Given the description of an element on the screen output the (x, y) to click on. 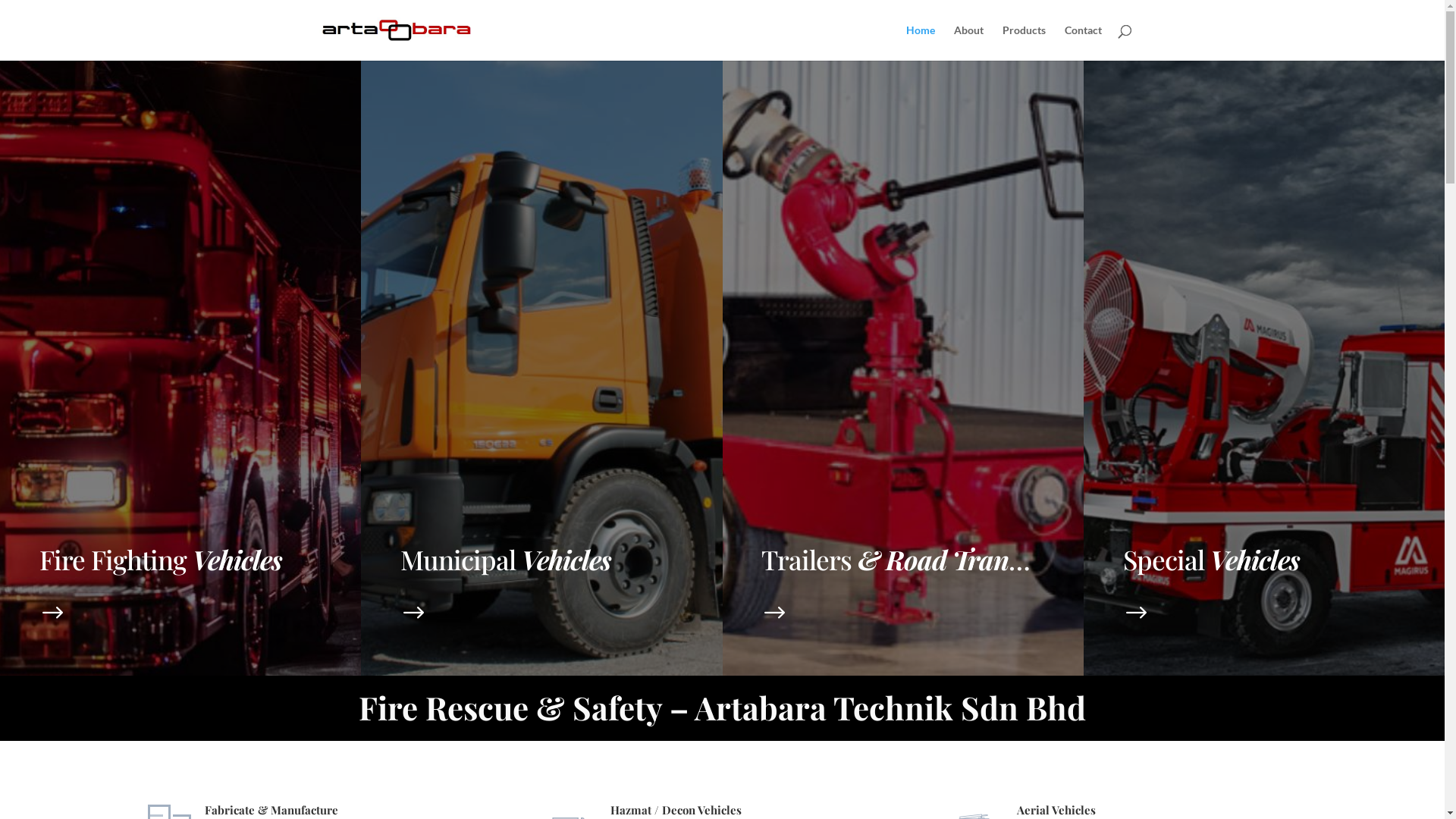
Products Element type: text (1023, 42)
$ Element type: text (414, 613)
Contact Element type: text (1082, 42)
Municipal Vehicles Element type: text (505, 559)
$ Element type: text (1137, 613)
$ Element type: text (775, 613)
Home Element type: text (919, 42)
Fire Fighting Vehicles Element type: text (160, 559)
$ Element type: text (53, 613)
Trailers & Road Tranport Element type: text (908, 559)
About Element type: text (968, 42)
Special Vehicles Element type: text (1211, 559)
